Given the description of an element on the screen output the (x, y) to click on. 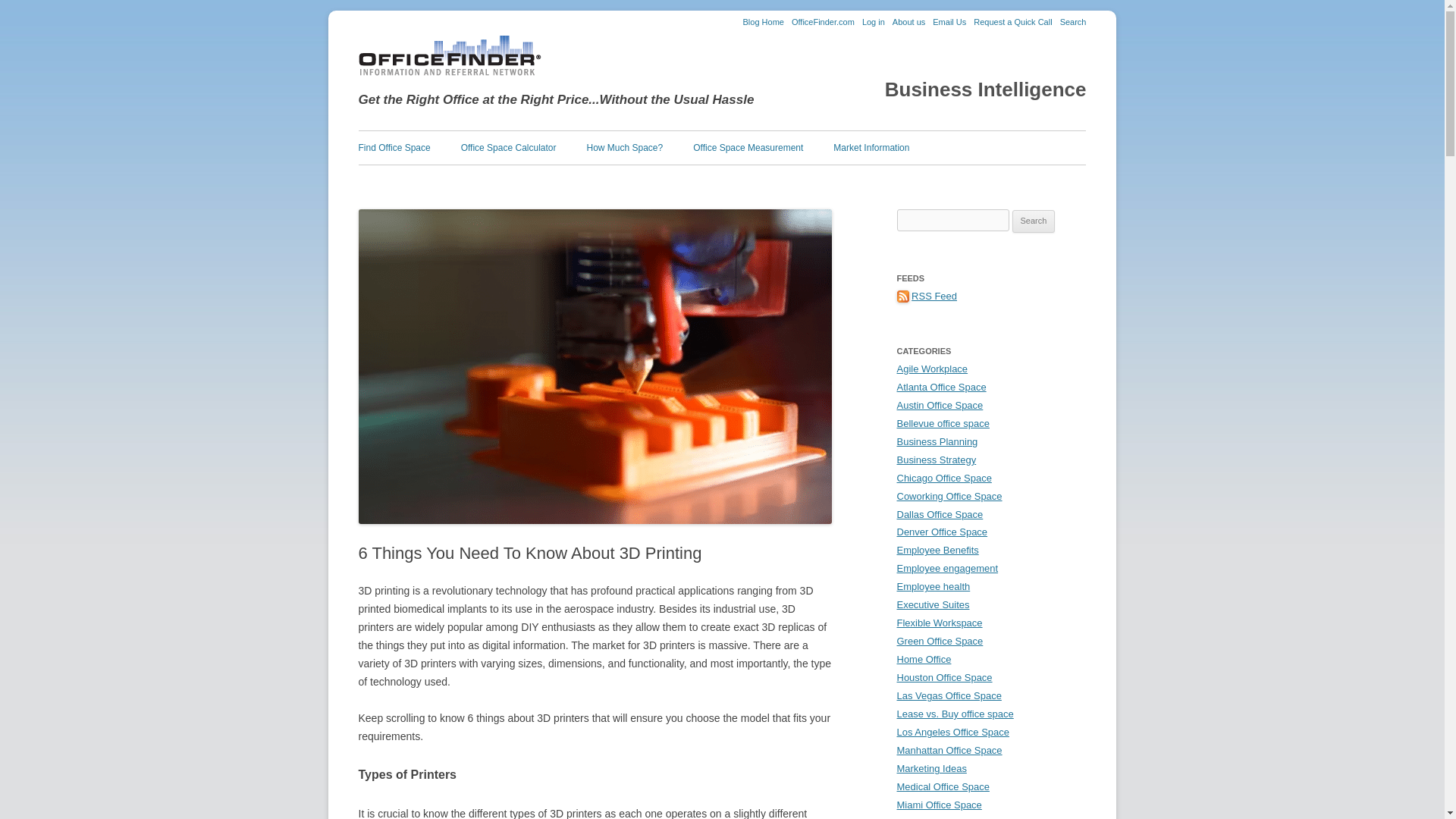
Email Us (949, 21)
Search (1072, 21)
Log in (873, 21)
Austin Office Space (939, 405)
Bellevue office space (942, 423)
About us (908, 21)
Search (1033, 220)
OfficeFinder.com (823, 21)
Skip to content (757, 135)
How Much Space? (624, 147)
